Given the description of an element on the screen output the (x, y) to click on. 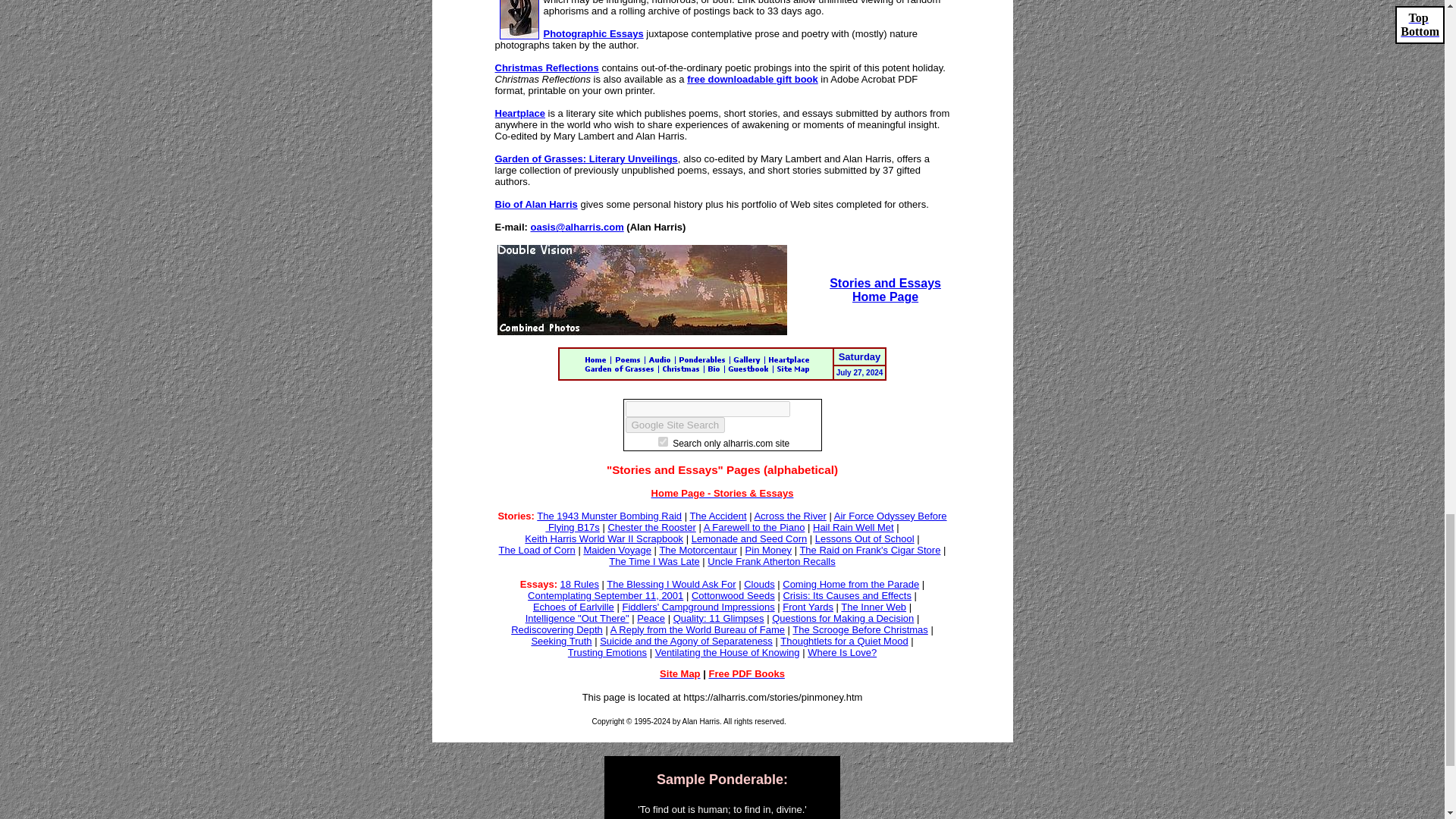
Photographic Essays (593, 33)
Lemonade and Seed Corn (749, 538)
Across the River (789, 515)
A Farewell to the Piano (754, 527)
Lessons Out of School (864, 538)
Chester the Rooster (651, 527)
Keith Harris World War II Scrapbook (603, 538)
Maiden Voyage (616, 550)
The 1943 Munster Bombing Raid (609, 515)
alharris.com (663, 441)
Google Site Search (674, 424)
Google Site Search (674, 424)
Garden of Grasses: Literary Unveilings (586, 158)
Bio of Alan Harris (535, 204)
